Given the description of an element on the screen output the (x, y) to click on. 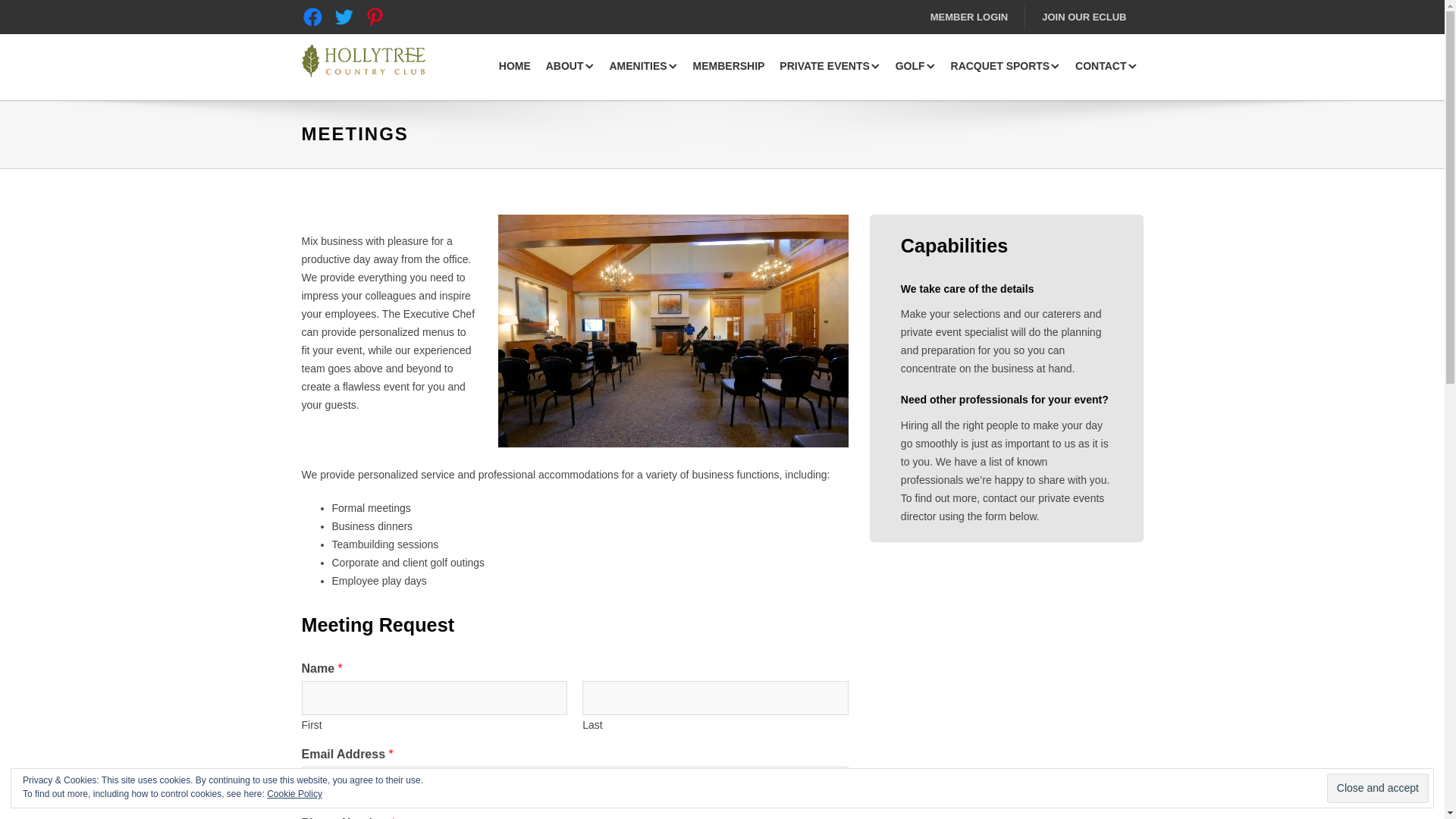
JOIN OUR ECLUB (1083, 16)
AMENITIES (642, 66)
GOLF (915, 66)
PRIVATE EVENTS (829, 66)
PINTEREST (374, 16)
HOME (515, 66)
ABOUT (569, 66)
FACEBOOK (312, 16)
MEMBER LOGIN (969, 16)
Close and accept (1377, 788)
RACQUET SPORTS (1005, 66)
MEMBERSHIP (729, 66)
TWITTER (342, 16)
